Given the description of an element on the screen output the (x, y) to click on. 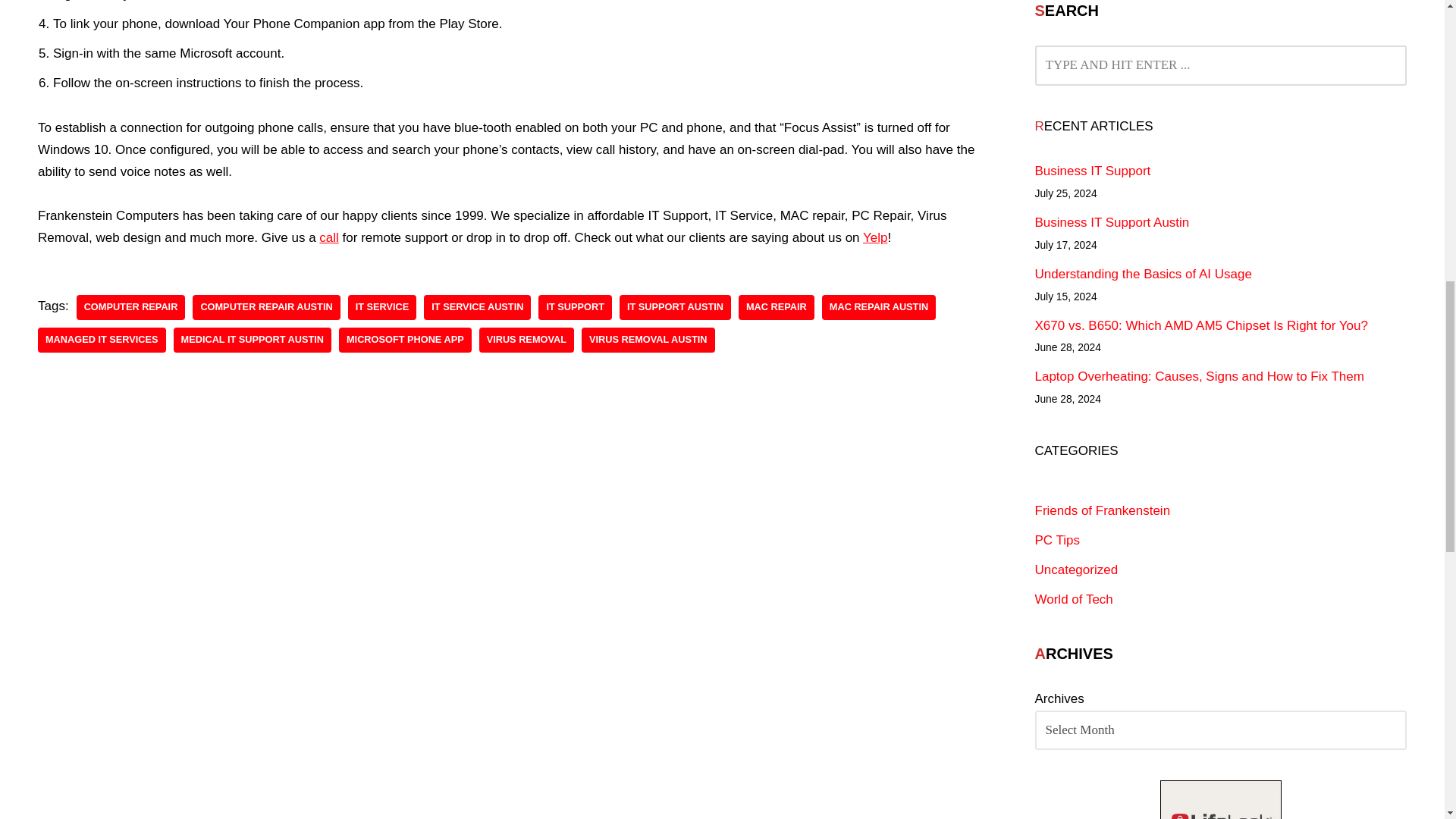
Managed IT Services (101, 339)
Microsoft Phone App (405, 339)
Medical IT Support Austin (252, 339)
IT Service Austin (477, 307)
IT service (381, 307)
computer repair (131, 307)
IT Support (574, 307)
computer repair austin (265, 307)
MAC Repair Austin (879, 307)
IT Support Austin (675, 307)
